Given the description of an element on the screen output the (x, y) to click on. 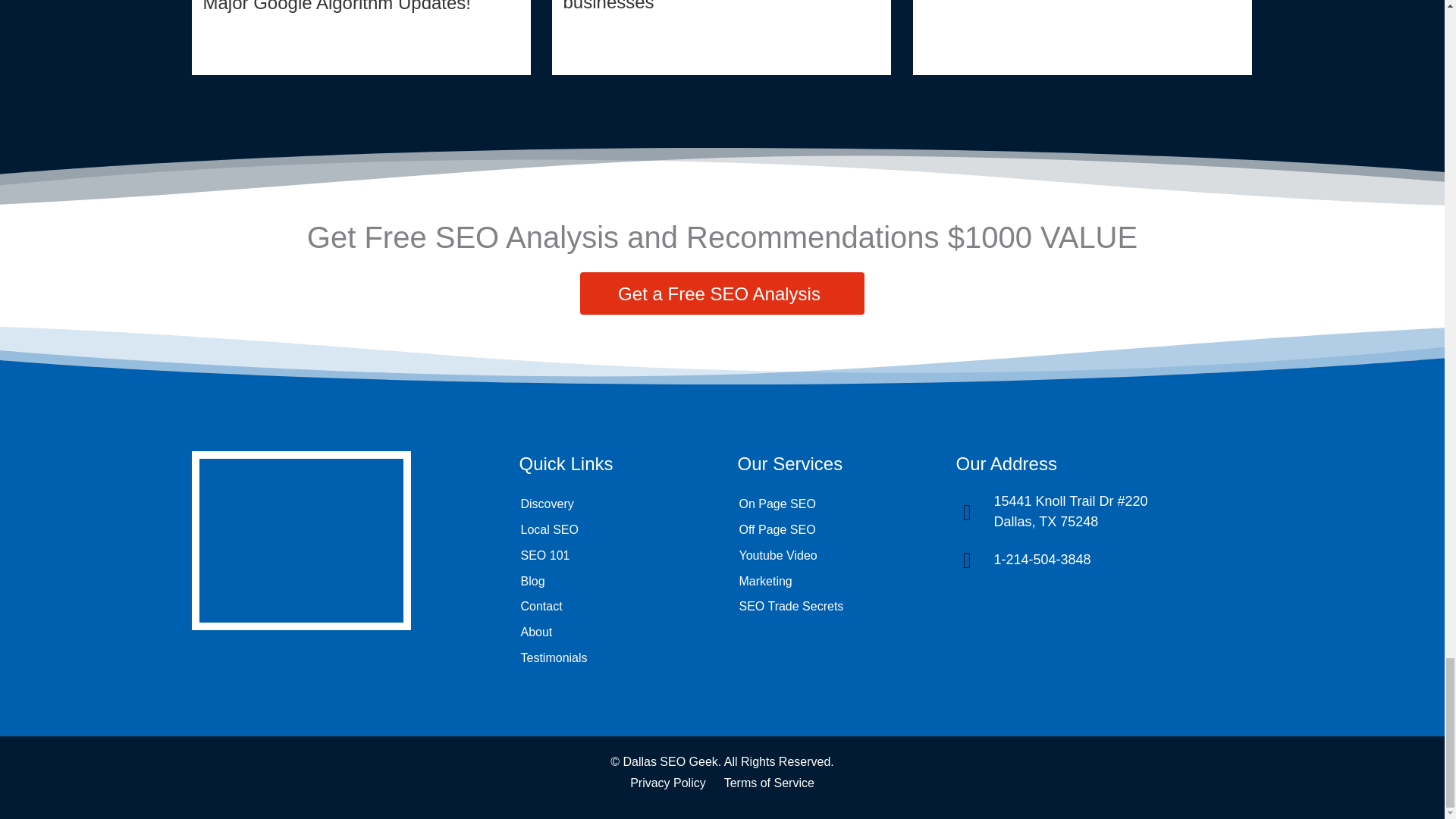
Dallas SEO Geek (670, 761)
Discovery (612, 503)
YouTube (373, 668)
Logo (300, 540)
Contact (612, 606)
Local SEO (612, 529)
Youtube Video (830, 555)
LinkedIn (319, 668)
Blog (612, 581)
On Page SEO (830, 503)
Get a Free SEO Analysis (721, 292)
SEO 101 (612, 555)
Marketing (830, 581)
SEO Tips for 2021 (1082, 38)
About (612, 632)
